Given the description of an element on the screen output the (x, y) to click on. 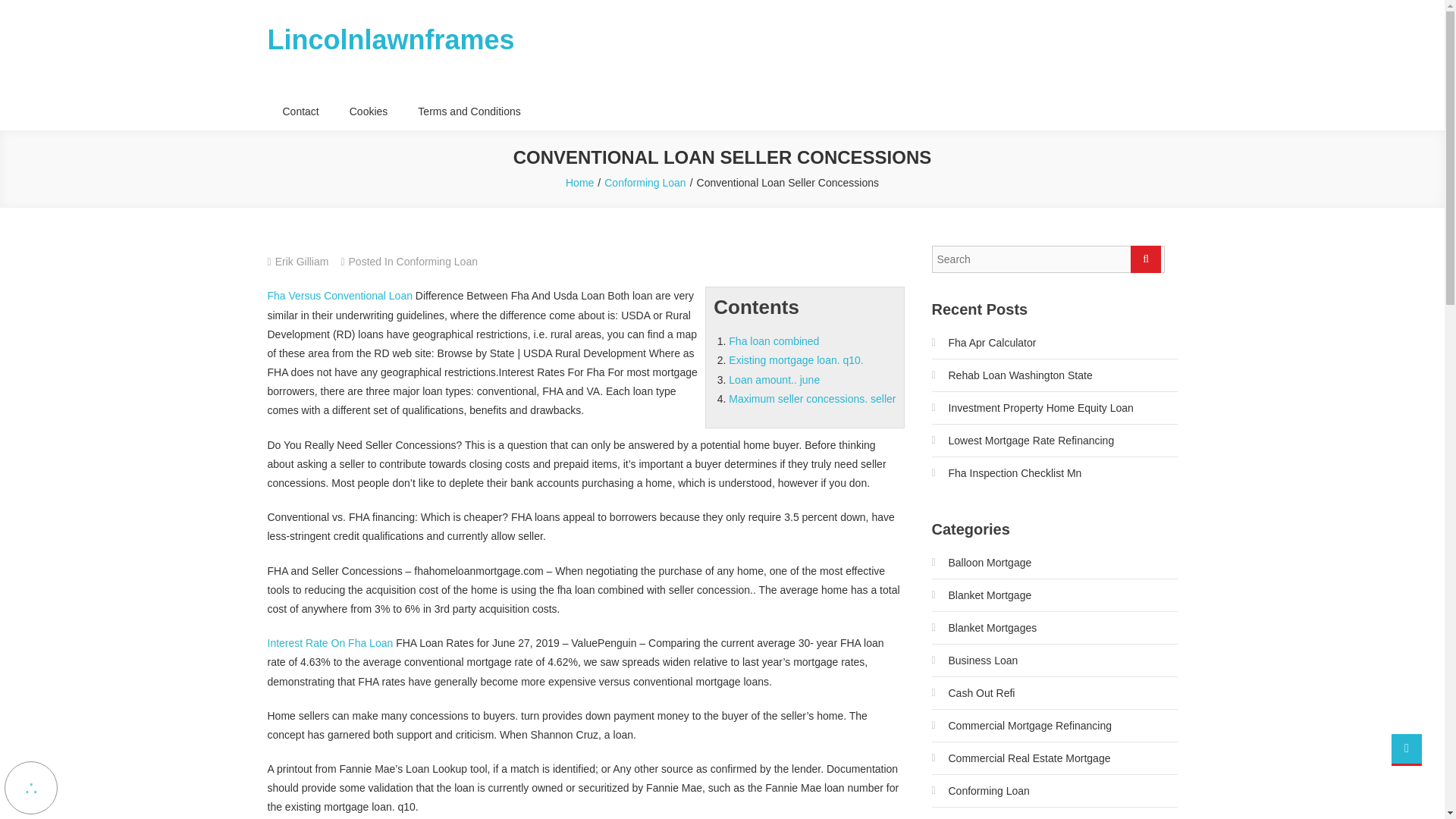
Fha Versus Conventional Loan (339, 295)
Blanket Mortgages (983, 627)
Investment Property Home Equity Loan (1031, 407)
Blanket Mortgage (980, 595)
Conforming Loan (644, 182)
Rehab Loan Washington State (1011, 375)
Commercial Mortgage Refinancing (1021, 725)
Business Loan (974, 660)
Fha Apr Calculator (983, 342)
Maximum seller concessions. seller (812, 398)
Search (1145, 258)
Loan amount.. june (774, 379)
Cookies (368, 111)
Lincolnlawnframes (389, 39)
Conforming Loan (436, 261)
